Given the description of an element on the screen output the (x, y) to click on. 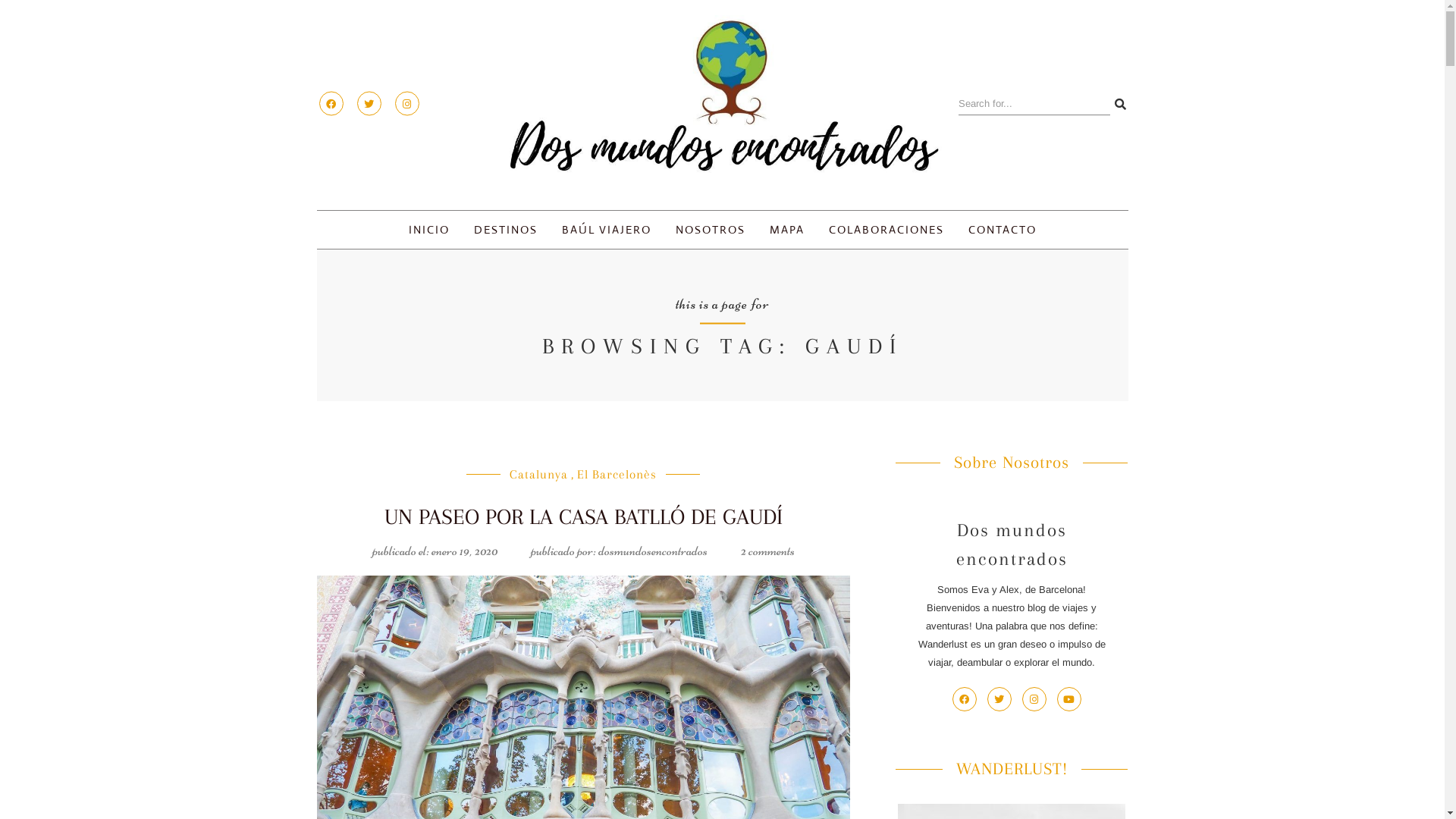
COLABORACIONES Element type: text (886, 229)
INICIO Element type: text (428, 229)
CONTACTO Element type: text (1002, 229)
publicado el: enero 19, 2020 Element type: text (434, 550)
DESTINOS Element type: text (505, 229)
NOSOTROS Element type: text (710, 229)
MAPA Element type: text (786, 229)
publicado por: dosmundosencontrados Element type: text (618, 550)
Catalunya Element type: text (538, 474)
2 comments Element type: text (767, 550)
